Given the description of an element on the screen output the (x, y) to click on. 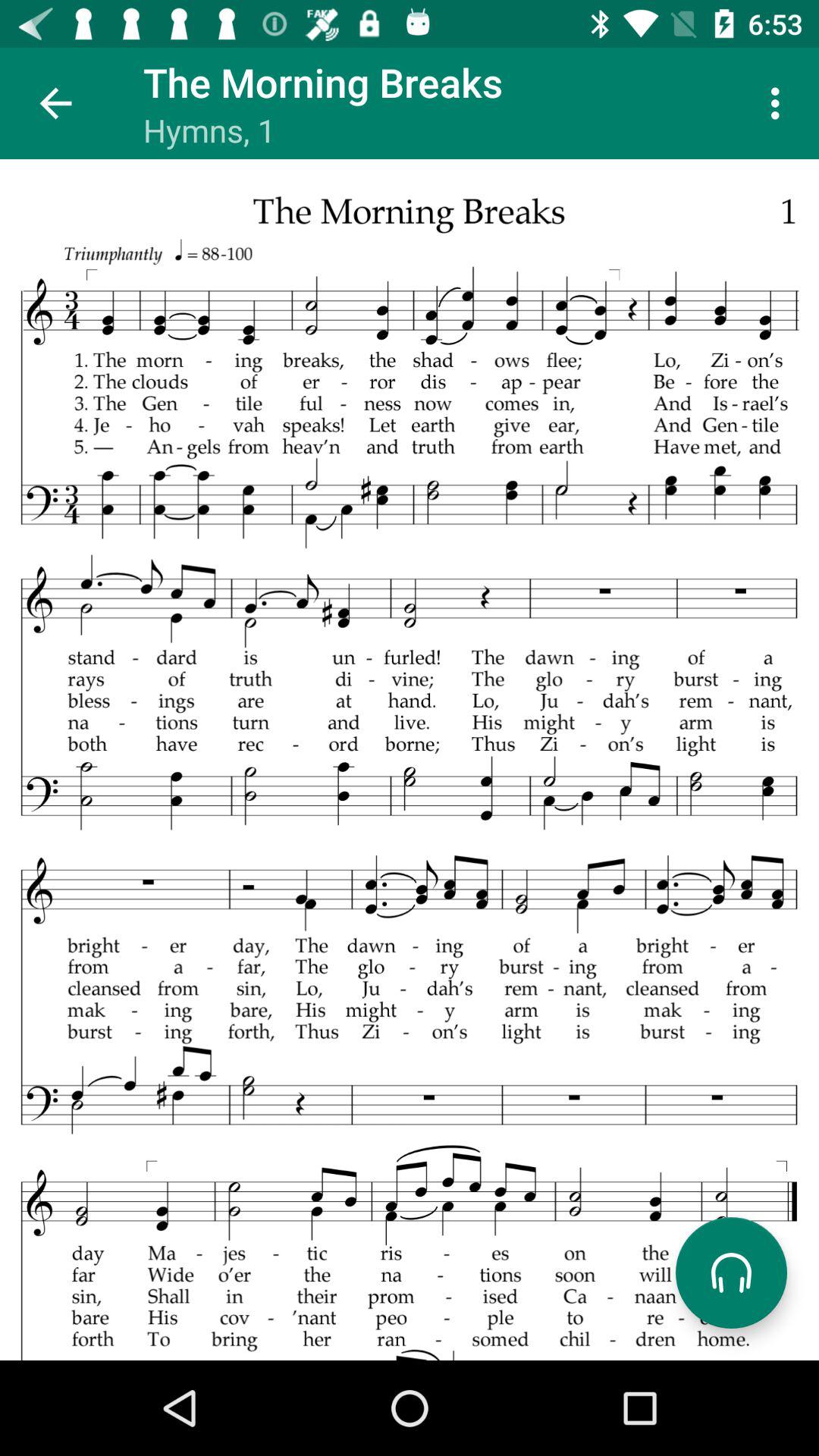
description (409, 759)
